Given the description of an element on the screen output the (x, y) to click on. 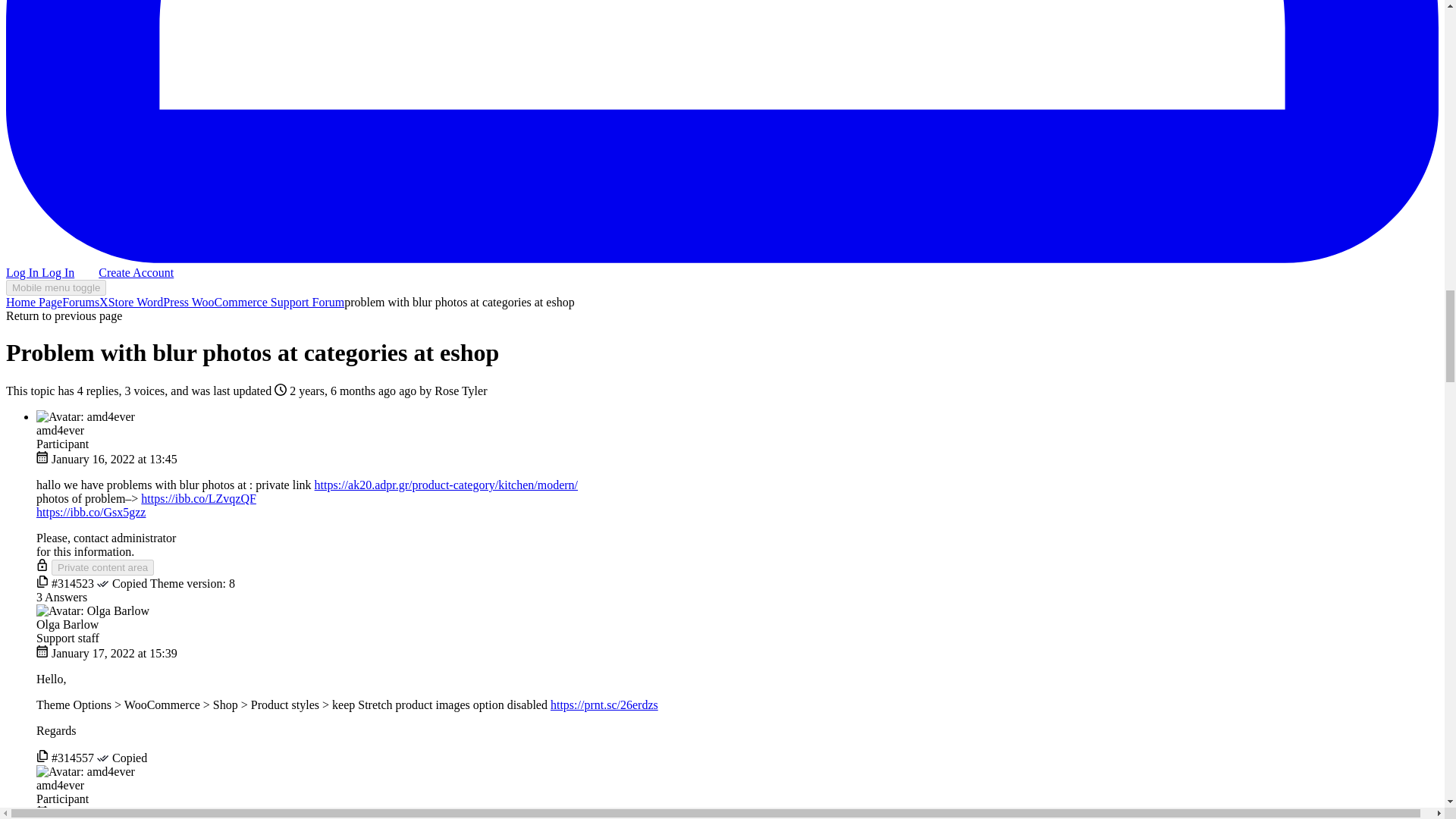
Copy to clipboard (42, 583)
Copy to clipboard (42, 757)
Private content area (102, 567)
